Given the description of an element on the screen output the (x, y) to click on. 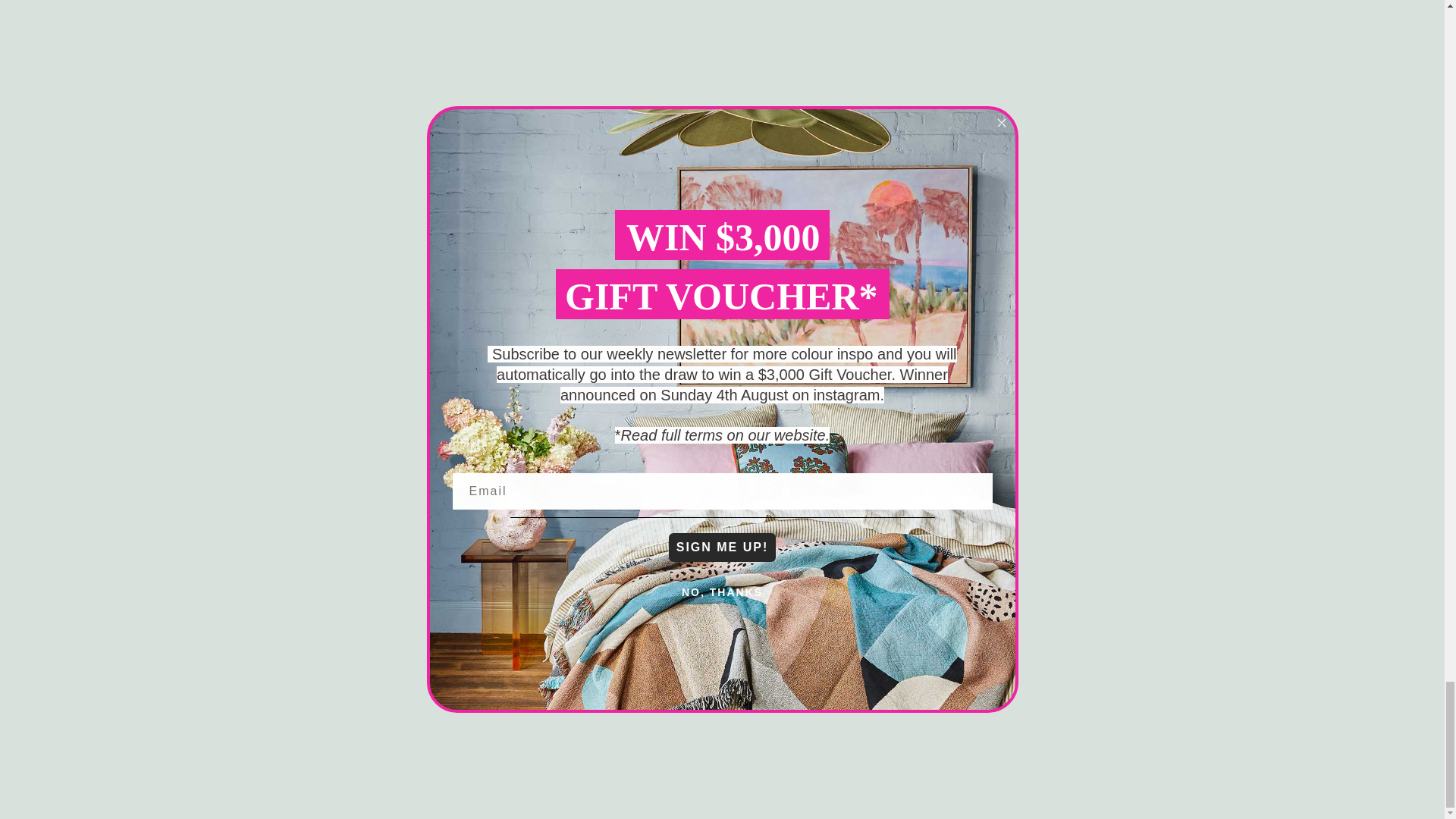
Greenhouse Interiors (418, 522)
